Given the description of an element on the screen output the (x, y) to click on. 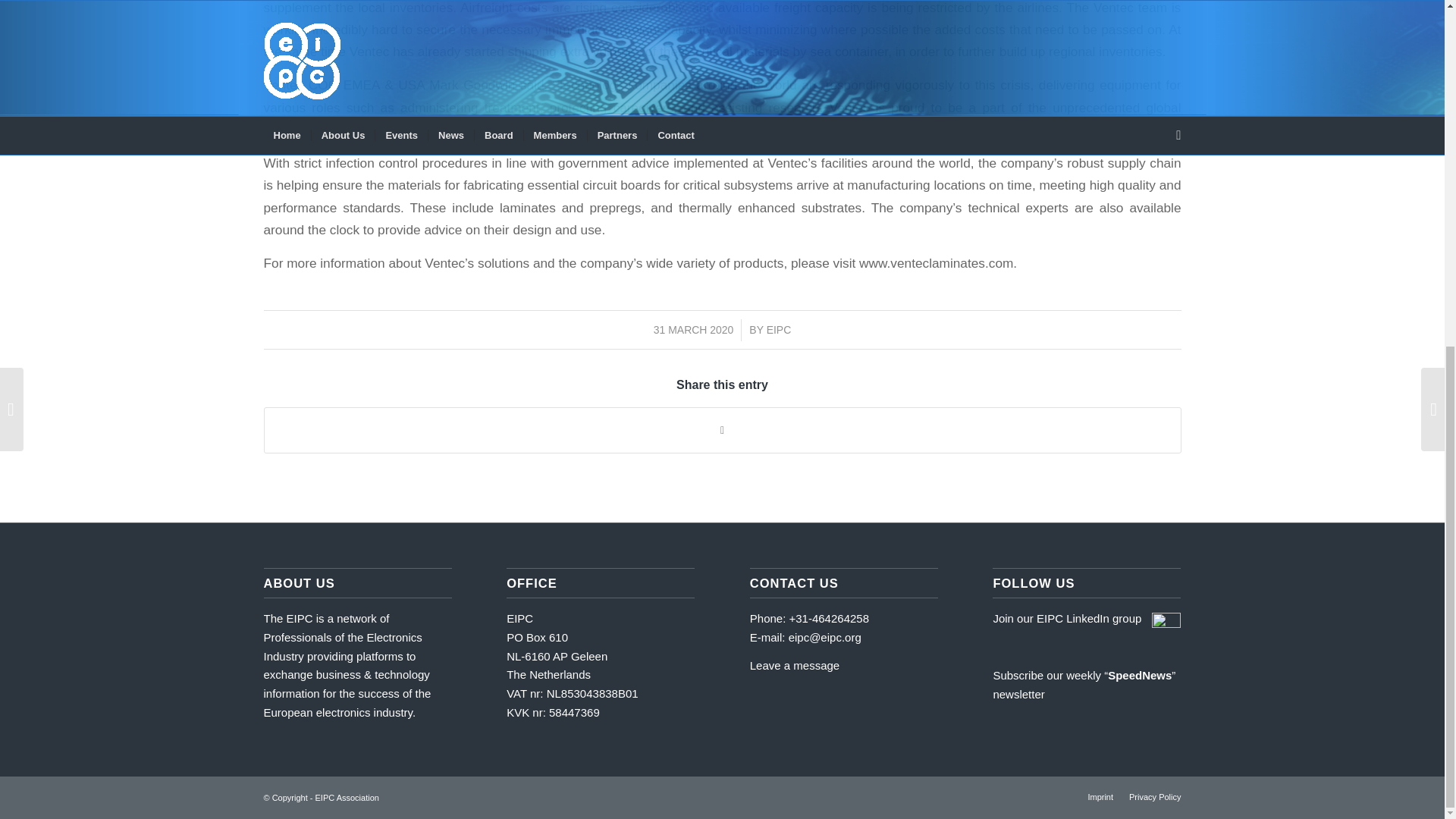
SpeedNews (1140, 675)
Posts by EIPC (779, 329)
Imprint (1100, 796)
Leave a message (794, 665)
EIPC LinkedIn group (1088, 617)
Privacy Policy (1154, 796)
EIPC (779, 329)
